Given the description of an element on the screen output the (x, y) to click on. 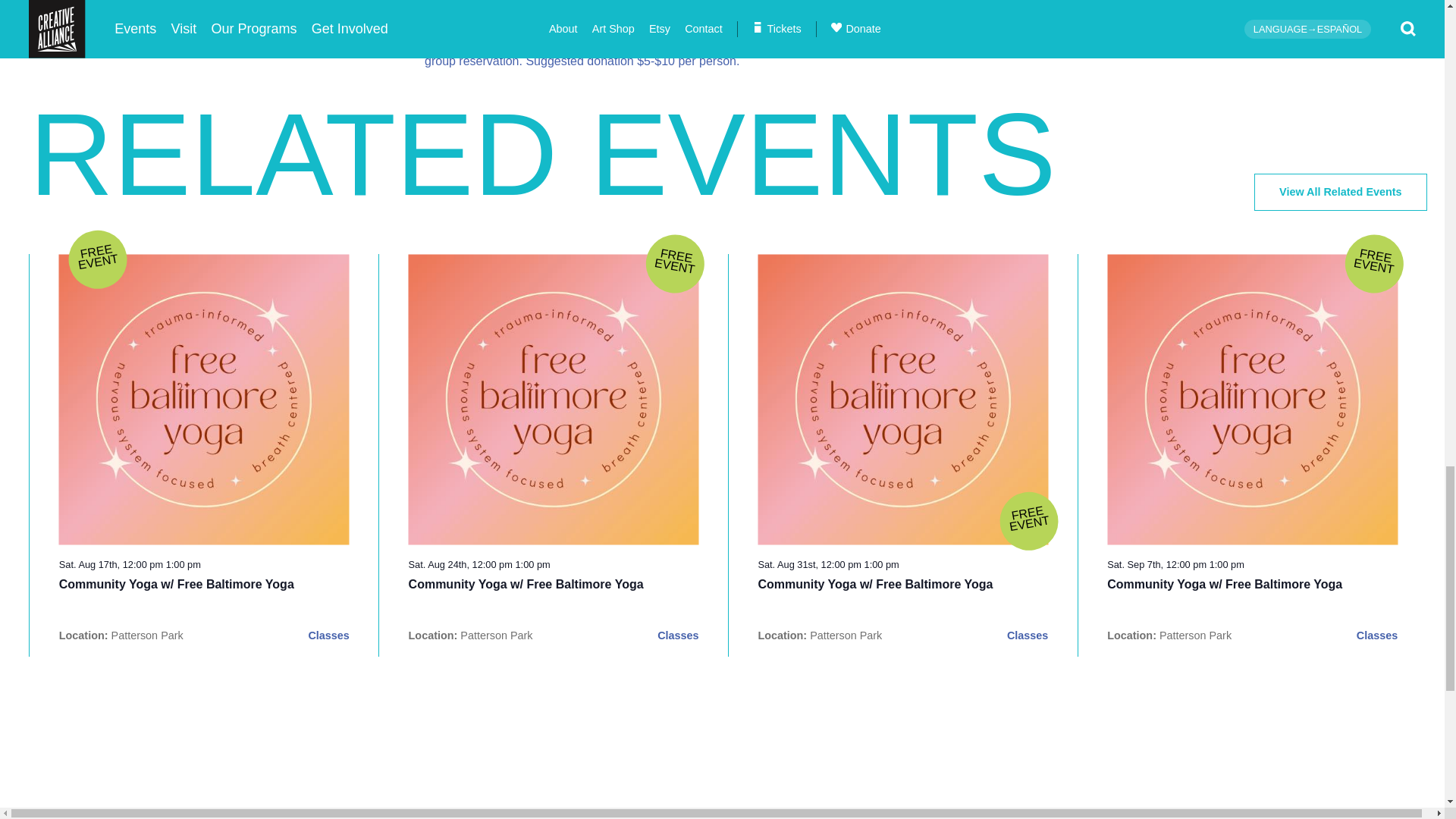
Drop-In Lantern Making (1224, 584)
Drop-In Lantern Making (176, 584)
Drop-In Lantern Making (874, 584)
Drop-In Lantern Making (526, 584)
